Given the description of an element on the screen output the (x, y) to click on. 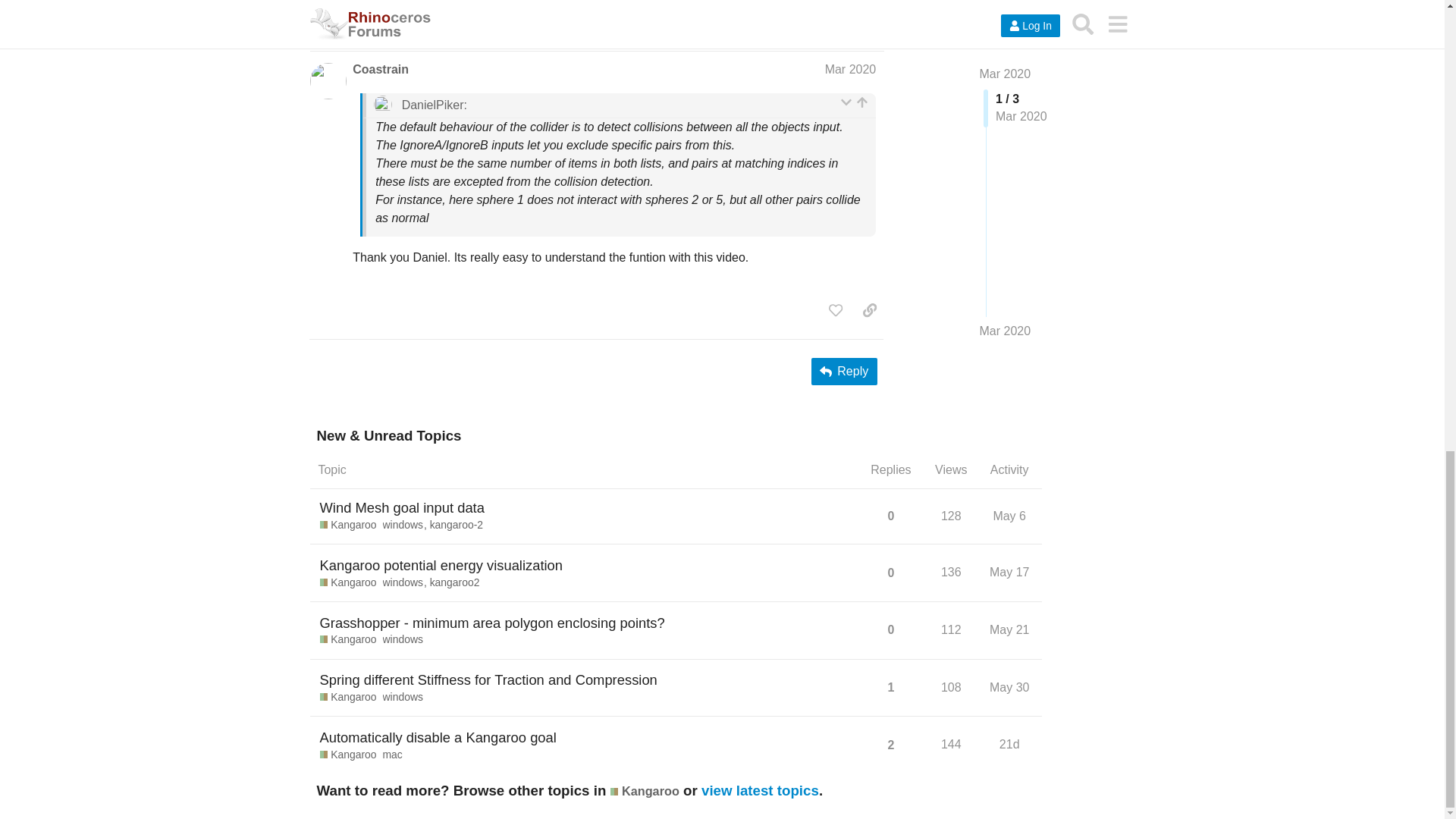
Reply (843, 370)
1 Reply (387, 22)
Mar 2020 (850, 69)
6 (832, 22)
Coastrain (380, 69)
